Given the description of an element on the screen output the (x, y) to click on. 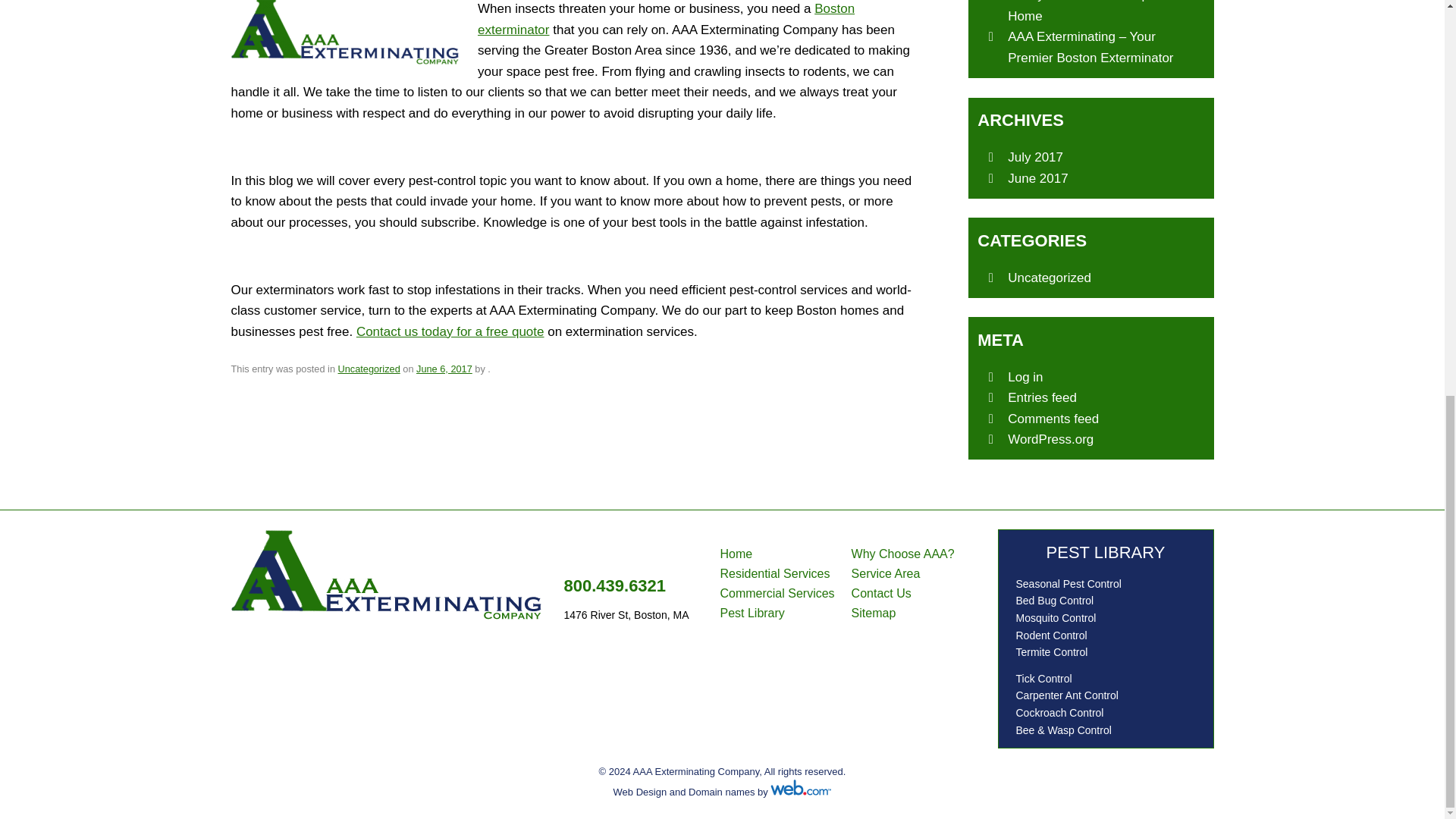
Boston exterminator (665, 18)
Why Choose AAA? (902, 553)
Uncategorized (1048, 278)
Commercial Services (777, 593)
Sitemap (873, 612)
WordPress.org (1050, 439)
Contact us today for a free quote (450, 331)
June 6, 2017 (443, 368)
July 2017 (1034, 156)
Entries feed (1042, 397)
Pest Library (751, 612)
Bed Bug Control (1054, 600)
Comments feed (1053, 418)
June 2017 (1037, 178)
Service Area (885, 573)
